Given the description of an element on the screen output the (x, y) to click on. 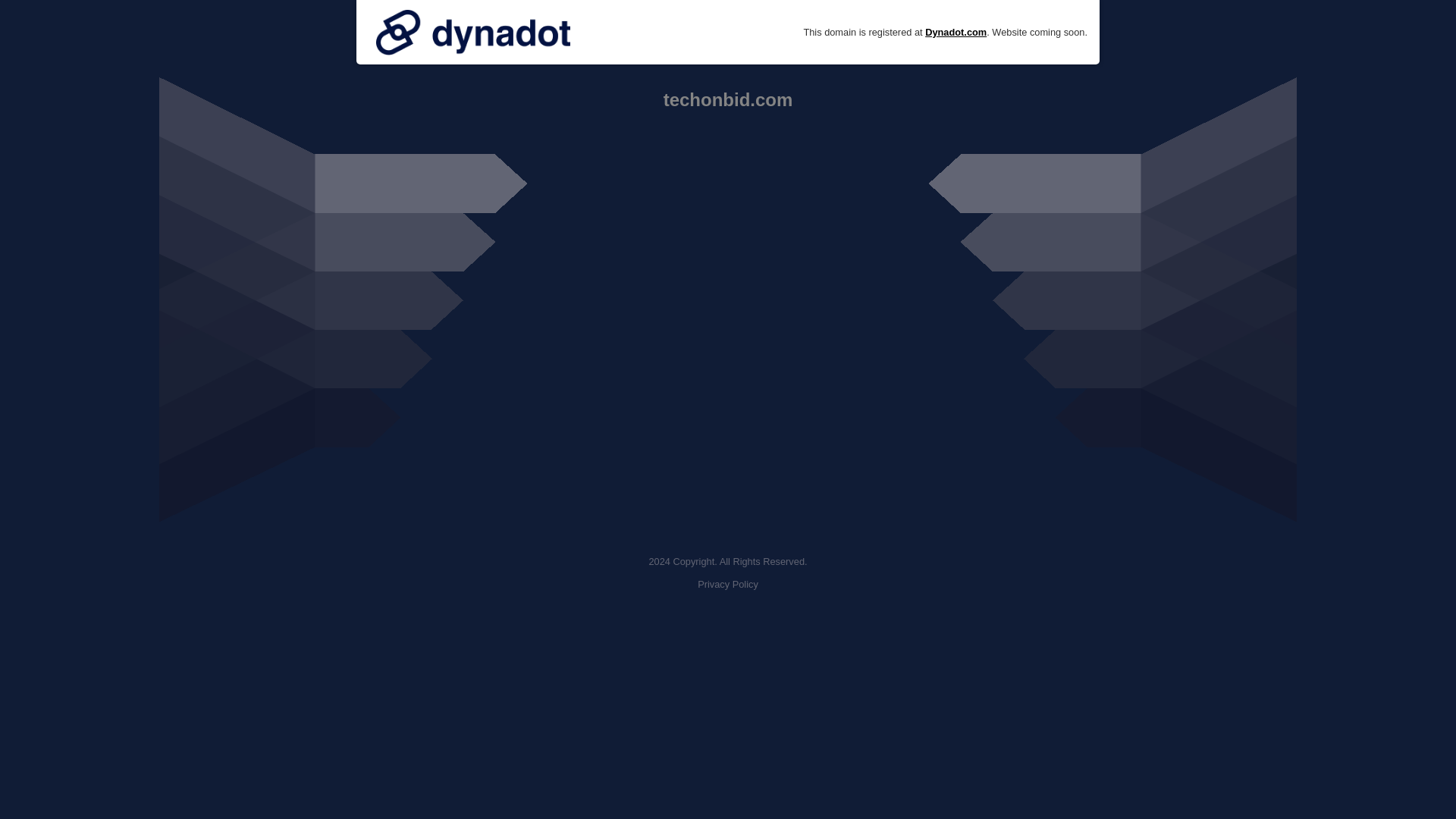
Domain managed at Dynadot.com (473, 31)
Privacy Policy (727, 583)
Dynadot.com (955, 31)
